Given the description of an element on the screen output the (x, y) to click on. 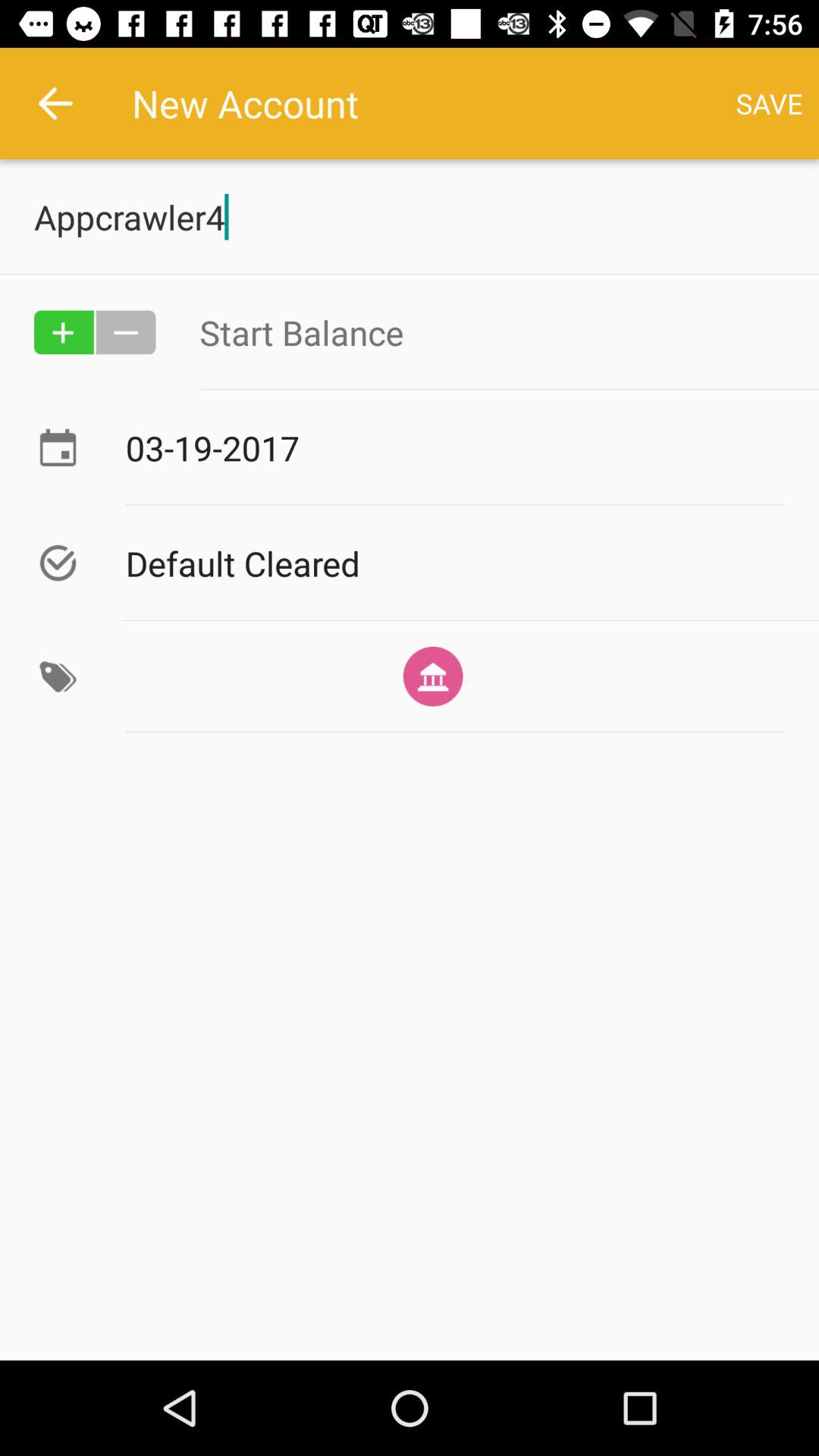
click on text field (491, 332)
click on the button  (126, 332)
click on save button (769, 103)
click on calendar button (57, 447)
clock on the first icon from the bottom of the page (57, 676)
